Given the description of an element on the screen output the (x, y) to click on. 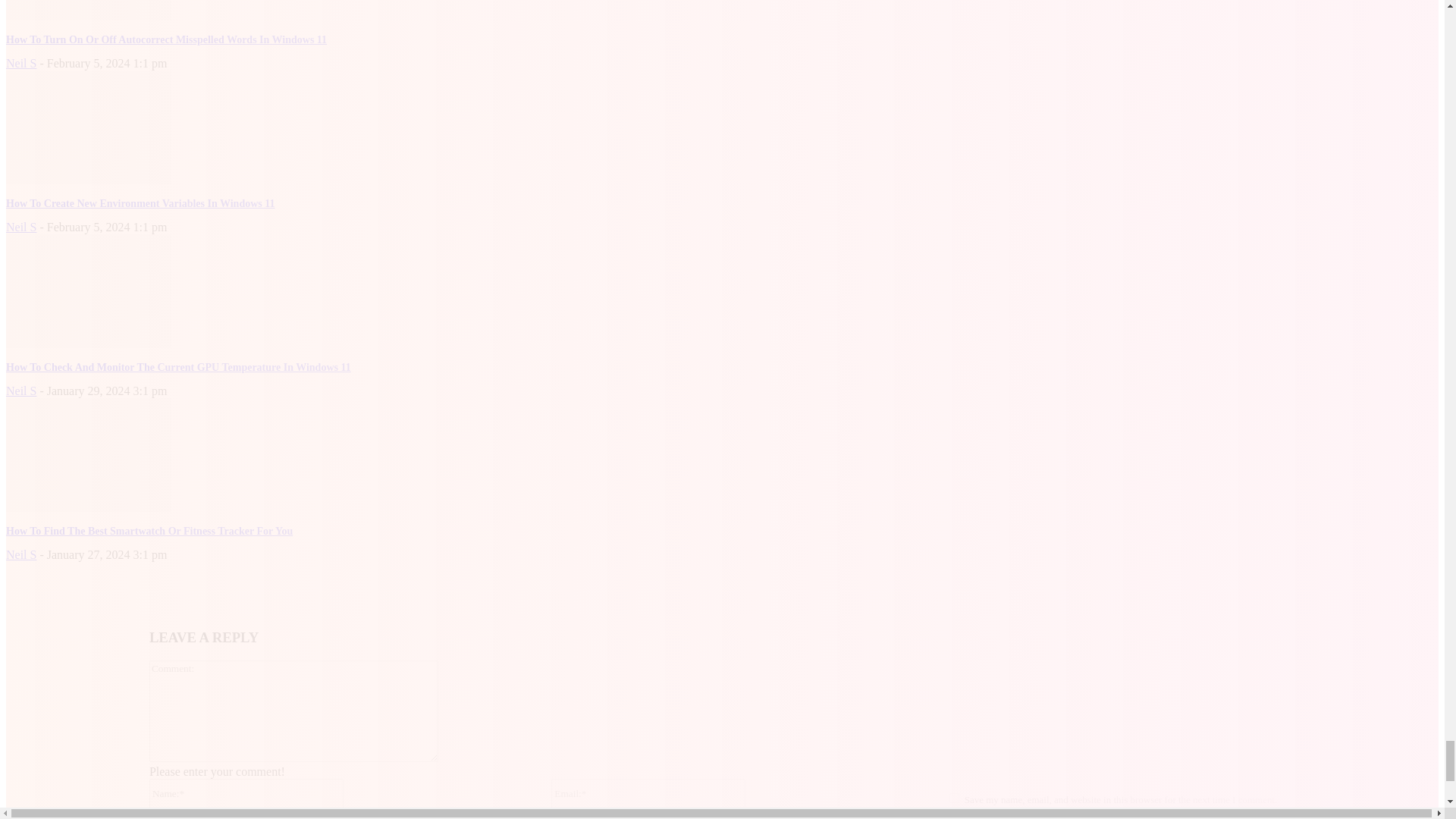
Post Comment (981, 818)
yes (954, 798)
